Given the description of an element on the screen output the (x, y) to click on. 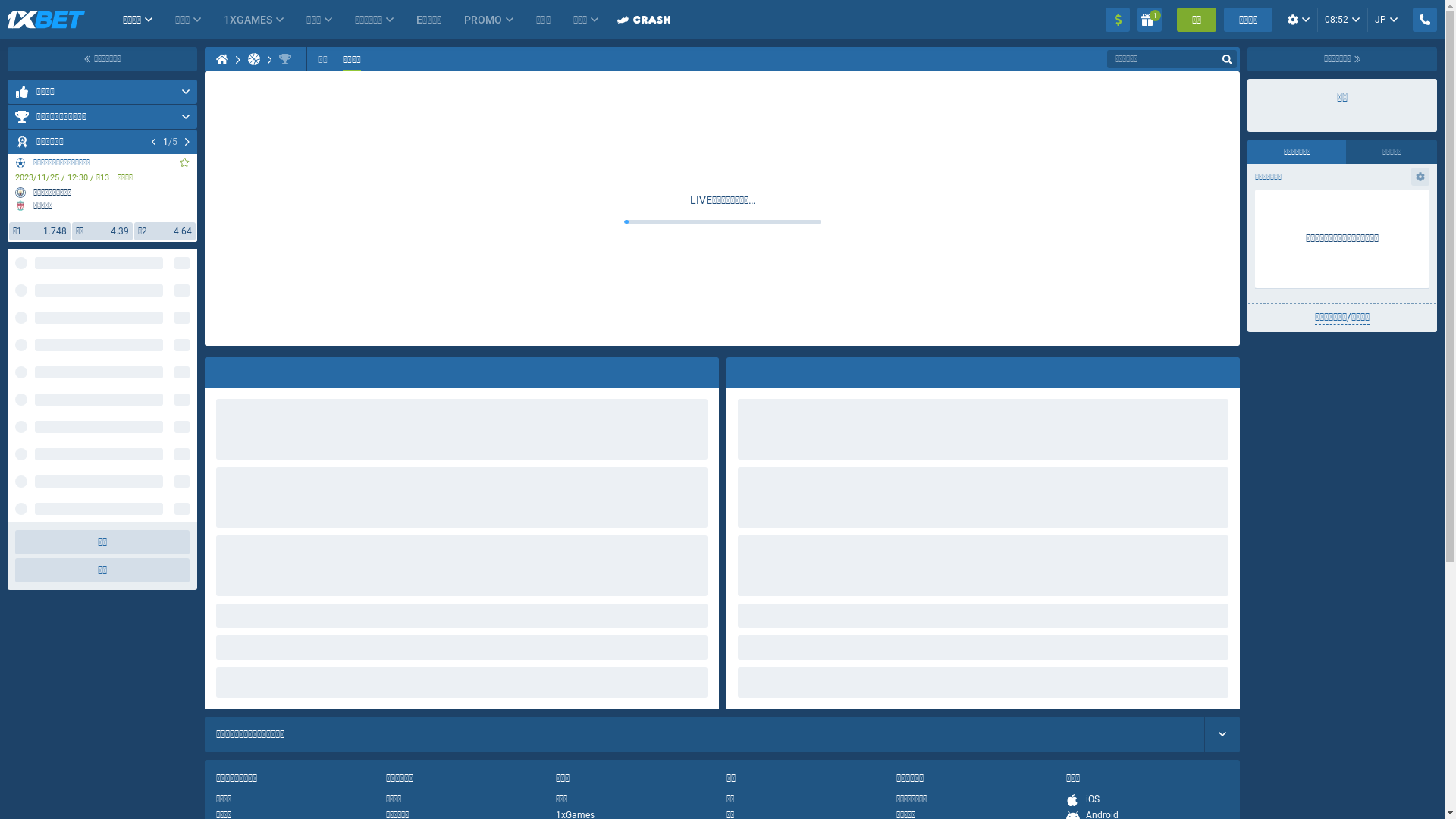
1XGAMES Element type: text (228, 19)
PROMO Element type: text (436, 19)
JP Element type: text (1397, 19)
iOS Element type: text (1082, 436)
1xGames Element type: text (574, 452)
+442045772010 Element type: text (862, 737)
Android Element type: text (1092, 452)
08:52 Element type: text (1353, 19)
